Given the description of an element on the screen output the (x, y) to click on. 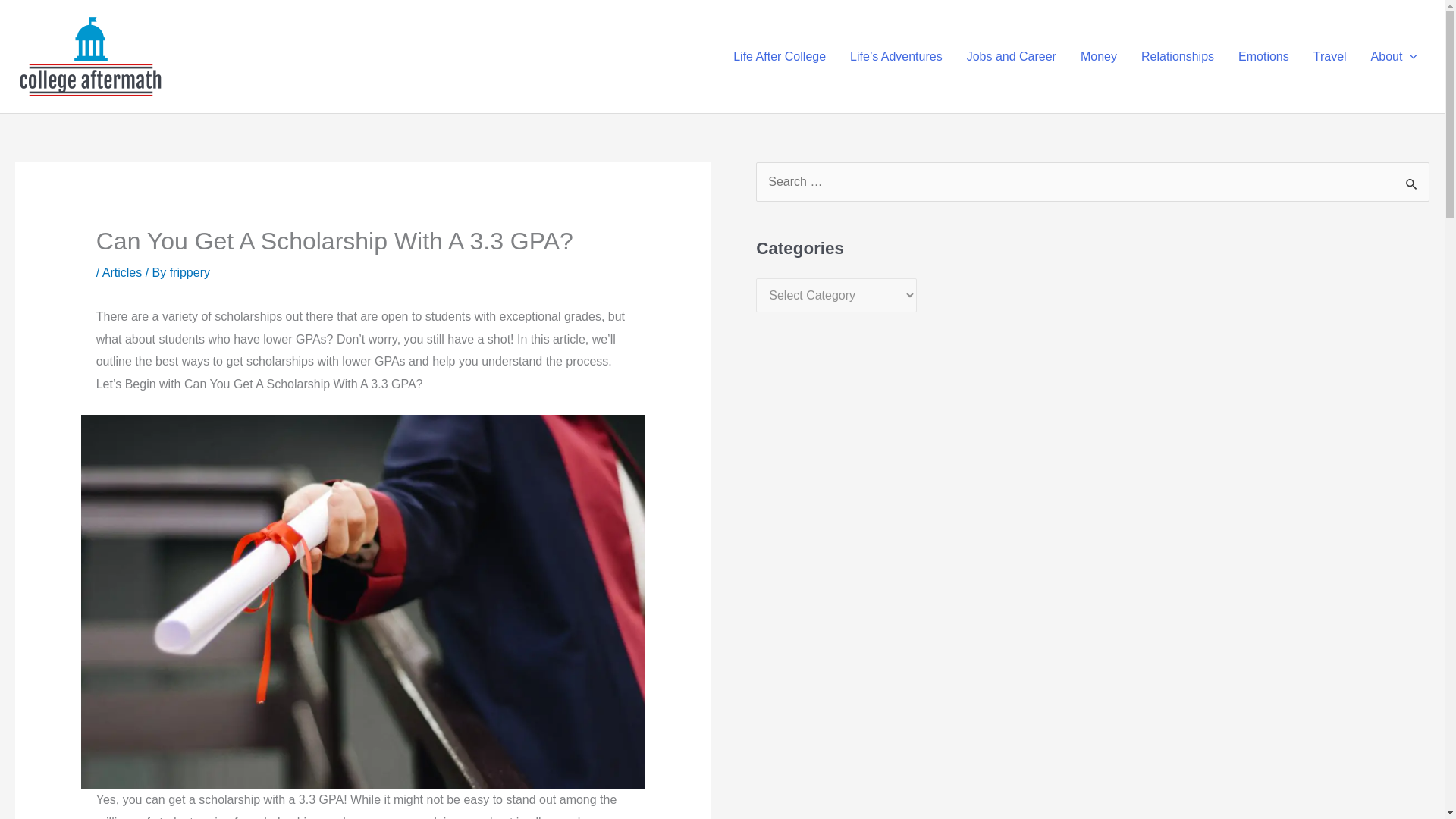
Money (1098, 56)
About (1393, 56)
Life After College (779, 56)
Emotions (1263, 56)
Jobs and Career (1011, 56)
Relationships (1177, 56)
View all posts by frippery (189, 272)
Travel (1329, 56)
